Given the description of an element on the screen output the (x, y) to click on. 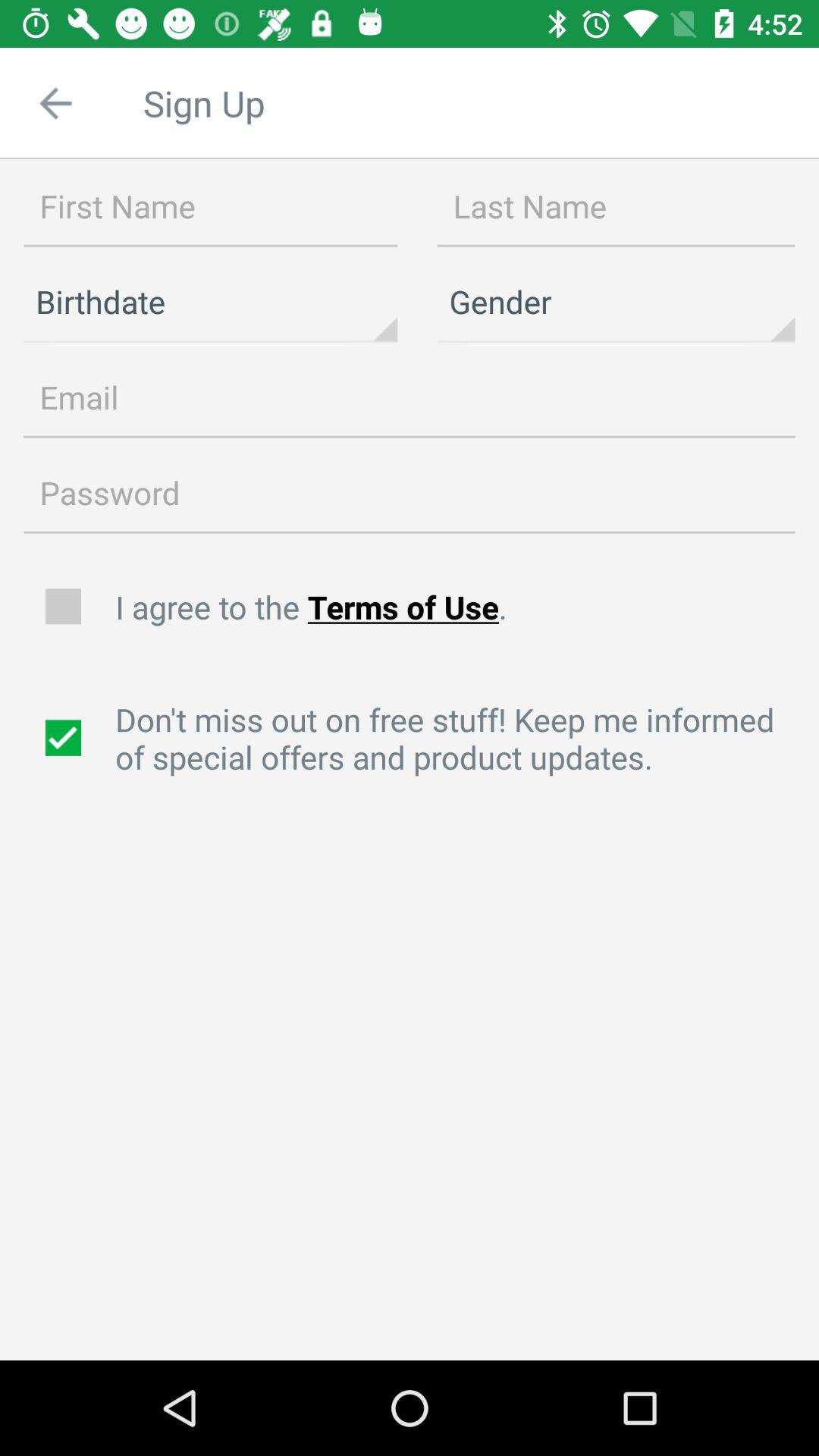
box in which to type last name of user signing up (616, 206)
